Given the description of an element on the screen output the (x, y) to click on. 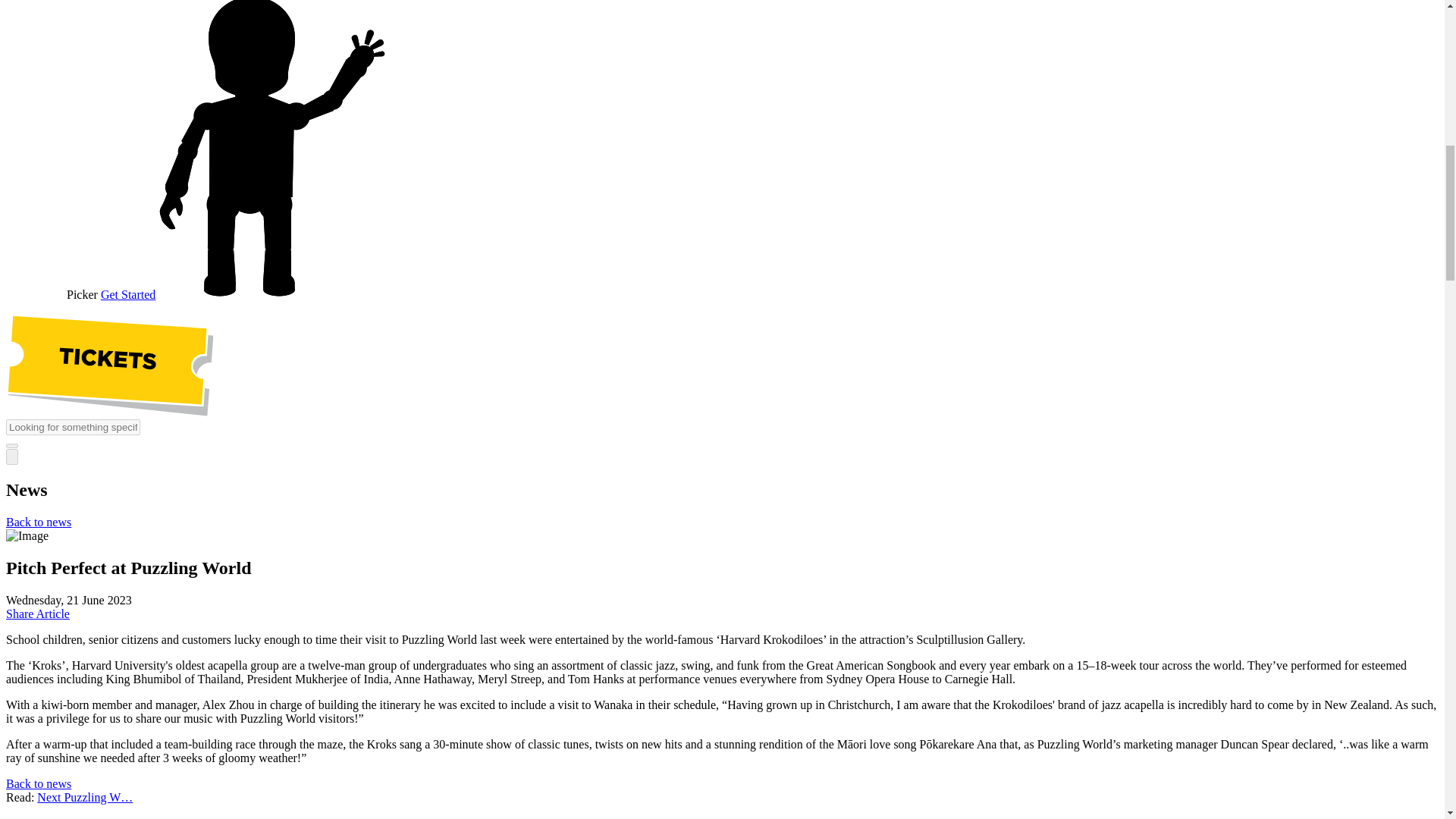
Puzzling World - calming teenage angst since 1973 (84, 797)
